Given the description of an element on the screen output the (x, y) to click on. 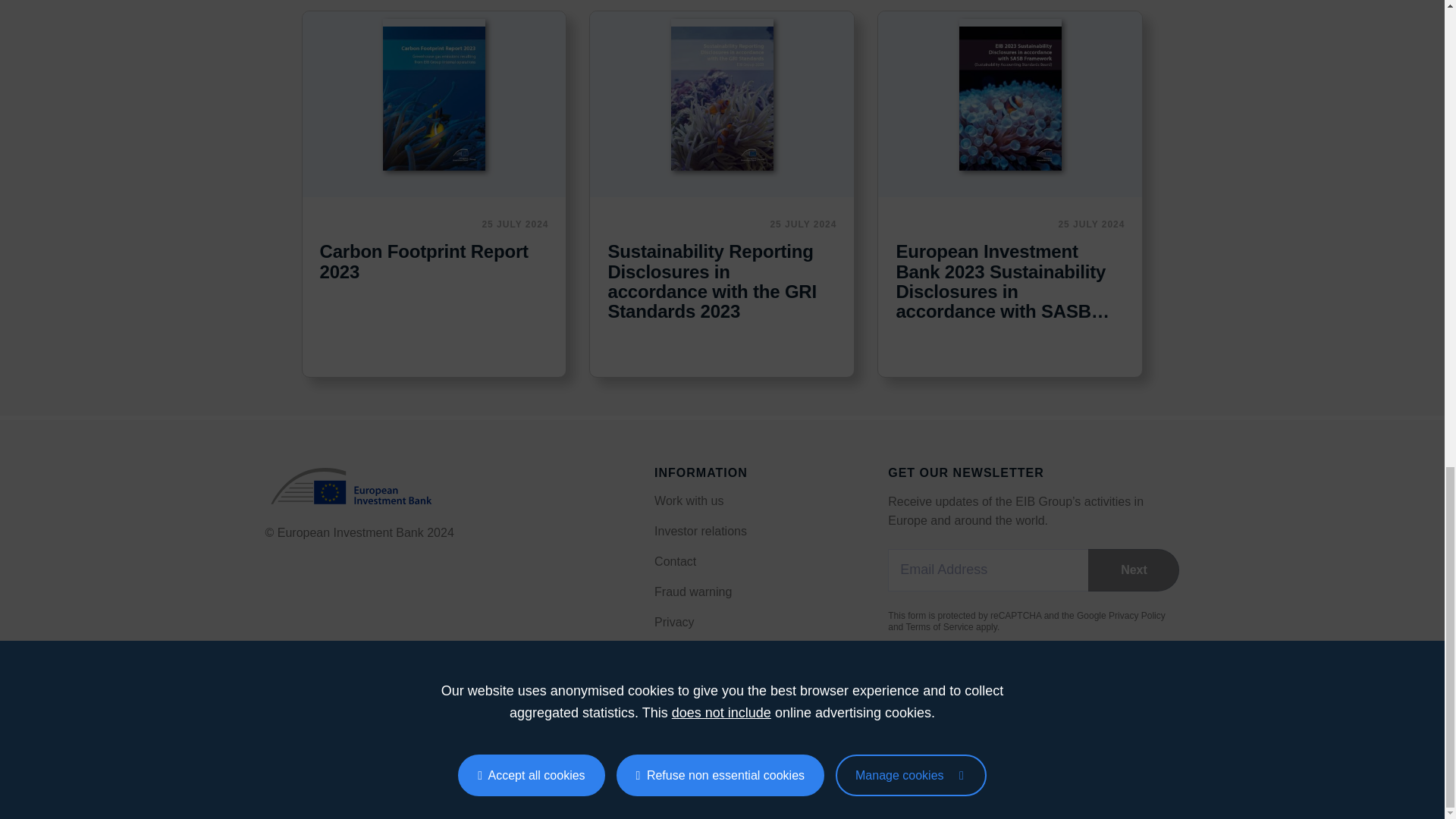
Rss (271, 763)
Youtube (394, 763)
Facebook (301, 763)
Twitter (364, 763)
Linkedin (332, 763)
